Given the description of an element on the screen output the (x, y) to click on. 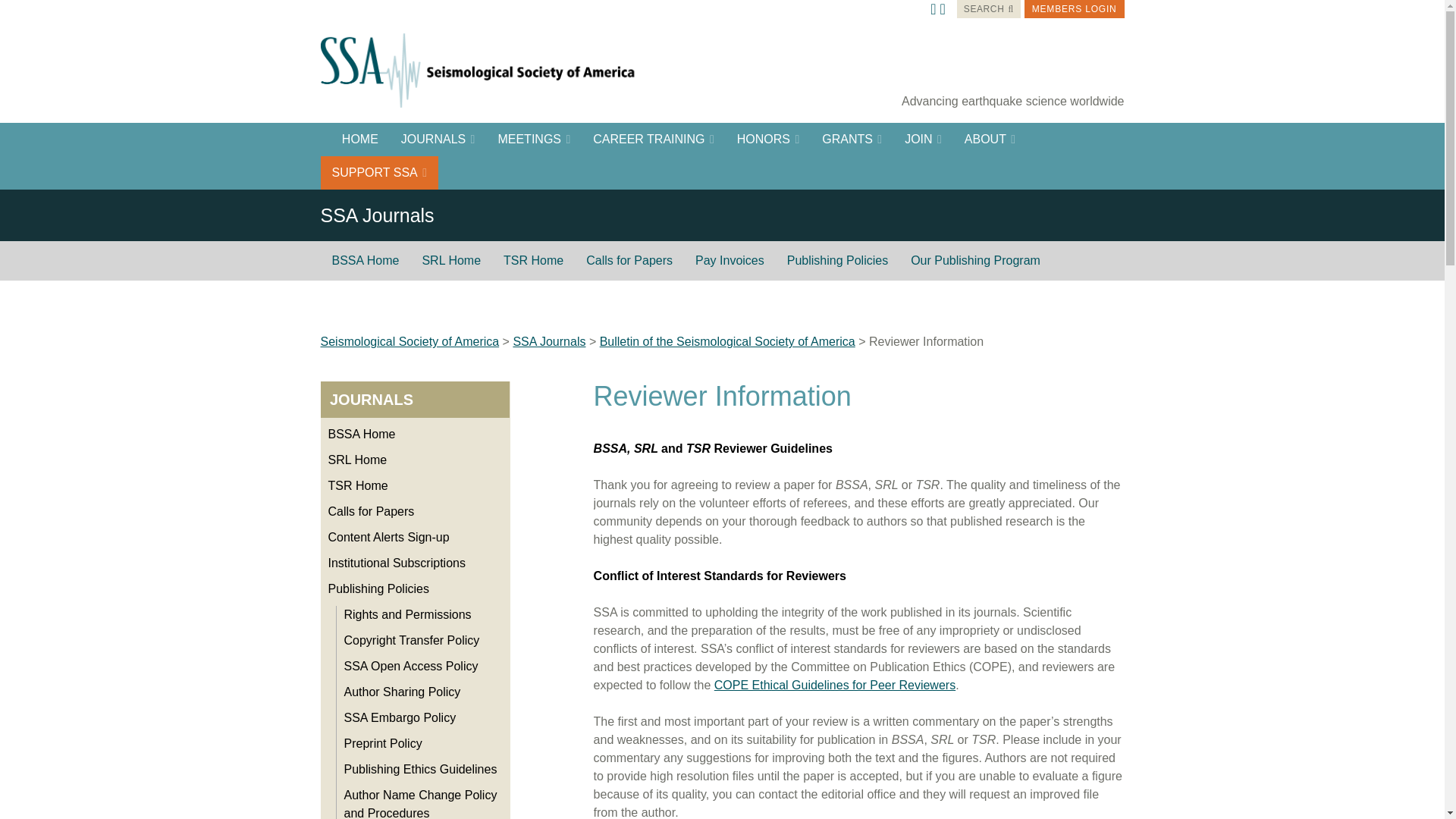
CAREER TRAINING (653, 139)
MEETINGS (533, 139)
HONORS (767, 139)
Search (978, 9)
JOURNALS (438, 139)
   HOME (354, 139)
MEMBERS LOGIN (1074, 9)
Go to Bulletin of the Seismological Society of America. (727, 341)
Seismological Society of America (483, 70)
Go to SSA Journals. (548, 341)
Go to Seismological Society of America. (409, 341)
